Given the description of an element on the screen output the (x, y) to click on. 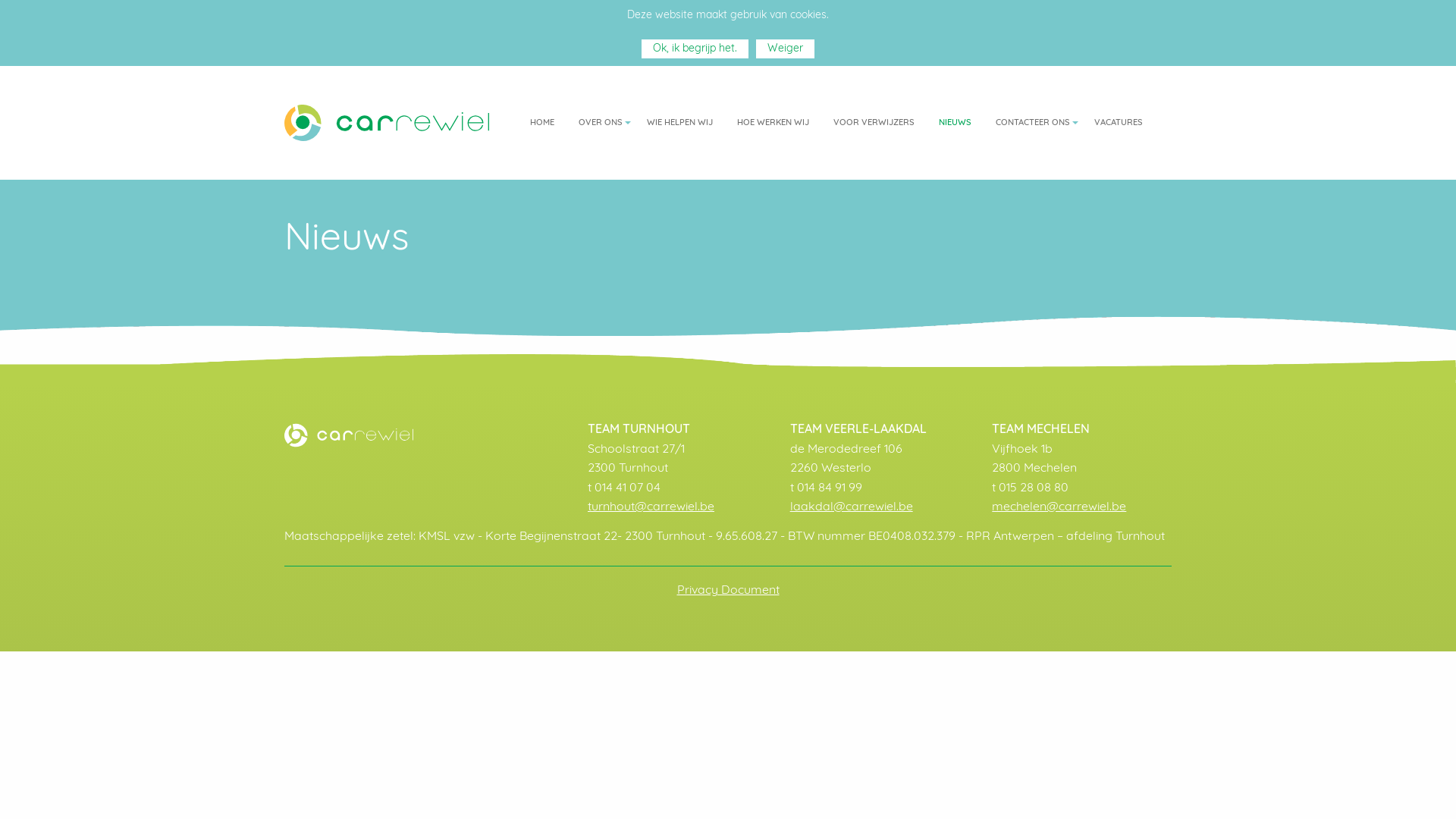
OVER ONS Element type: text (600, 122)
mechelen@carrewiel.be Element type: text (1058, 507)
VOOR VERWIJZERS Element type: text (873, 122)
WIE HELPEN WIJ Element type: text (679, 122)
Ok, ik begrijp het. Element type: text (694, 48)
VACATURES Element type: text (1118, 122)
NIEUWS Element type: text (954, 122)
HOME Element type: text (541, 122)
CONTACTEER ONS Element type: text (1032, 122)
HOE WERKEN WIJ Element type: text (772, 122)
Weiger Element type: text (785, 48)
laakdal@carrewiel.be Element type: text (851, 507)
turnhout@carrewiel.be Element type: text (650, 507)
Privacy Document Element type: text (727, 590)
